Given the description of an element on the screen output the (x, y) to click on. 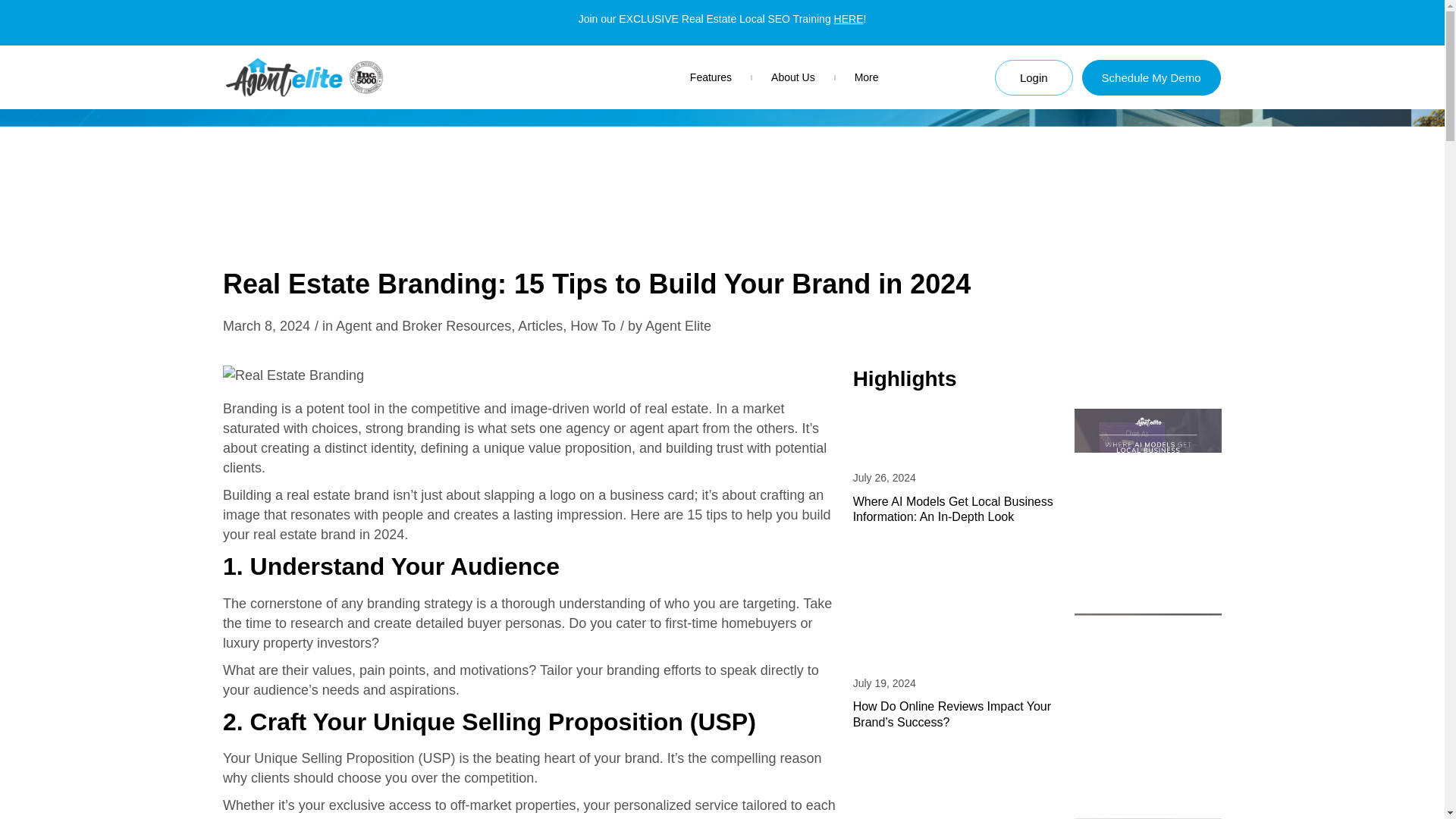
Join our EXCLUSIVE Real Estate Local SEO Training HERE! (722, 19)
More (866, 77)
About Us (793, 77)
Schedule My Demo (1151, 76)
Features (711, 77)
Login (1033, 76)
